Given the description of an element on the screen output the (x, y) to click on. 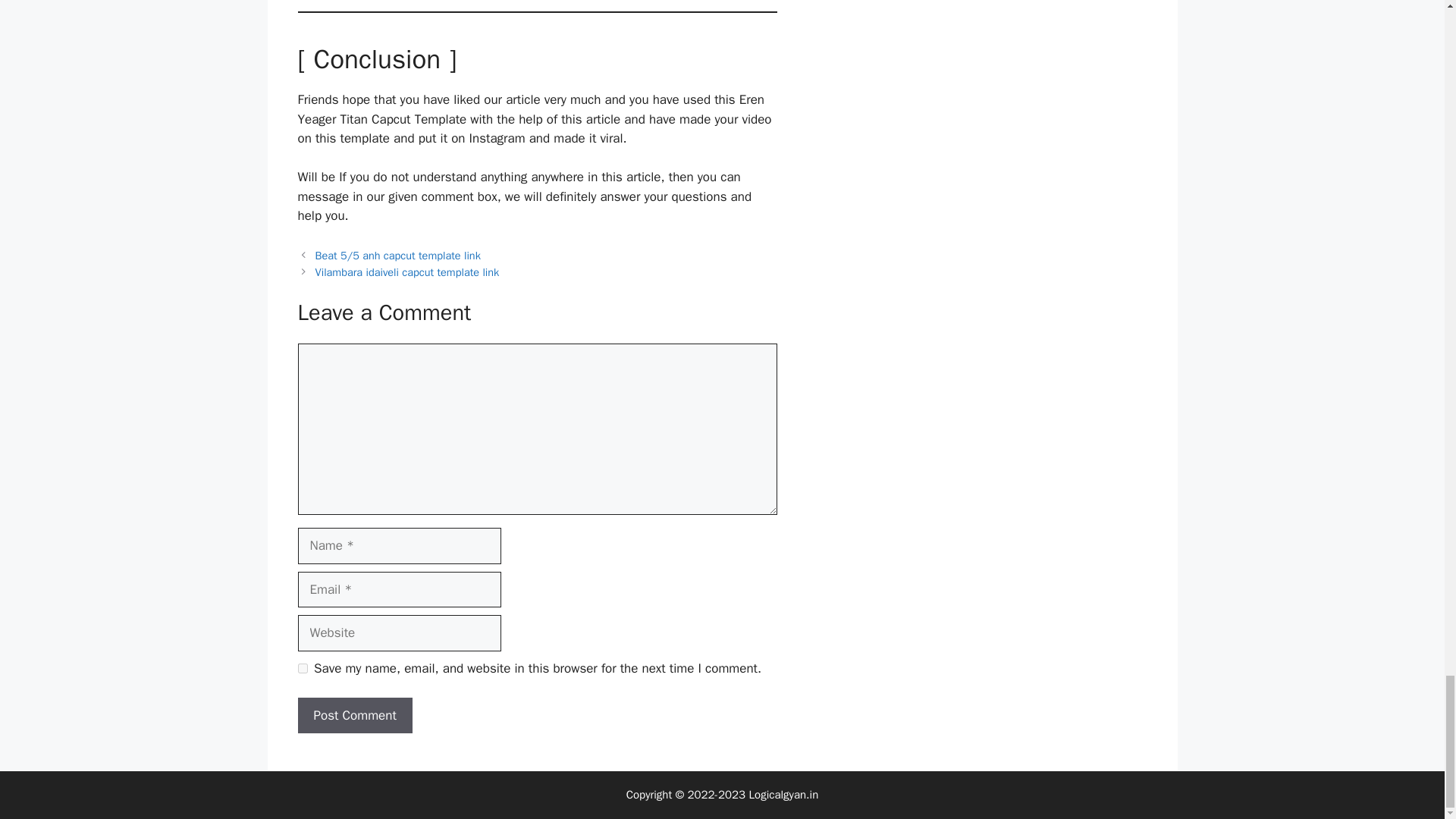
Vilambara idaiveli capcut template link (407, 272)
Post Comment (354, 715)
Post Comment (354, 715)
yes (302, 668)
